Given the description of an element on the screen output the (x, y) to click on. 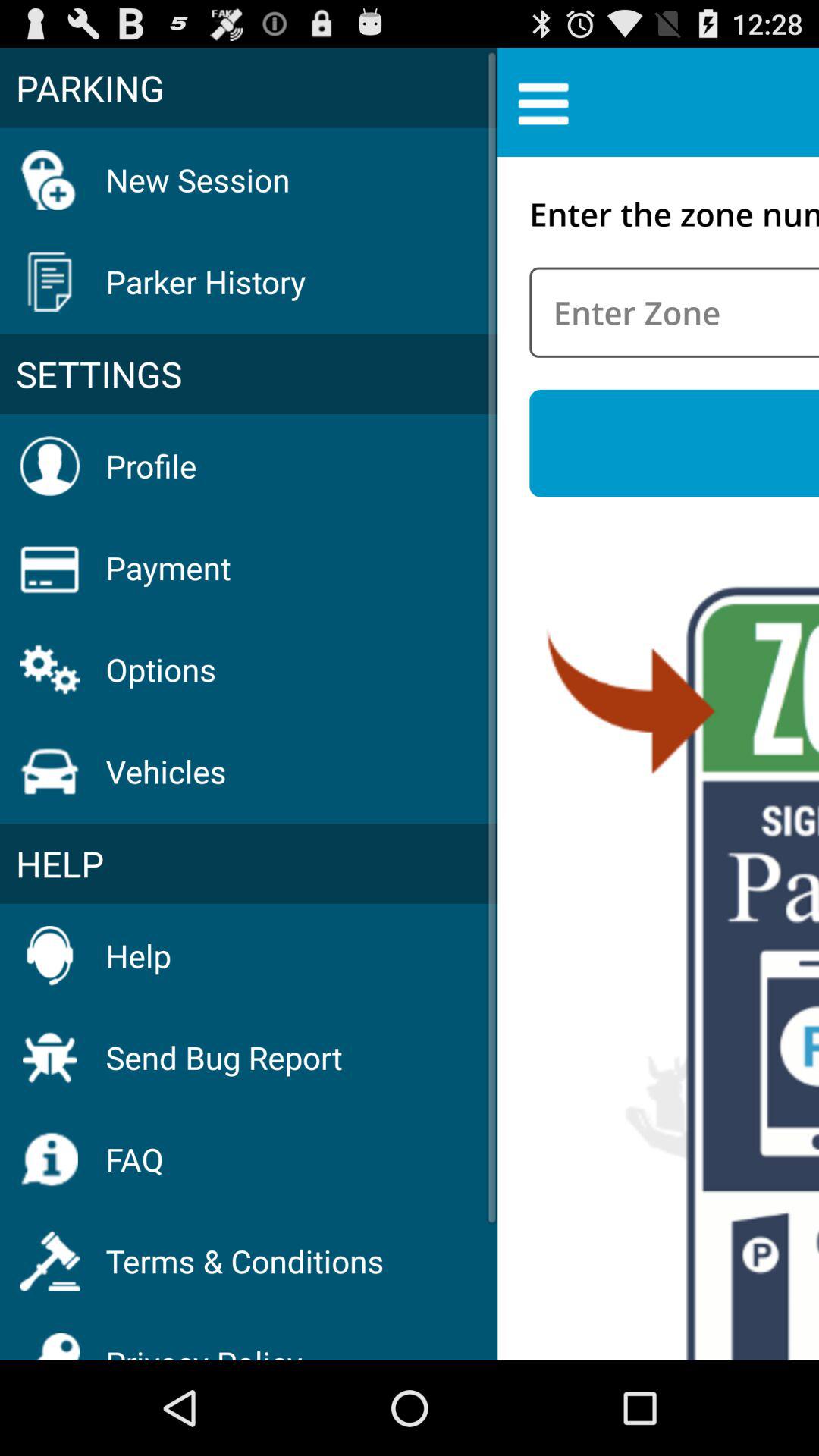
zone number text field (674, 312)
